Given the description of an element on the screen output the (x, y) to click on. 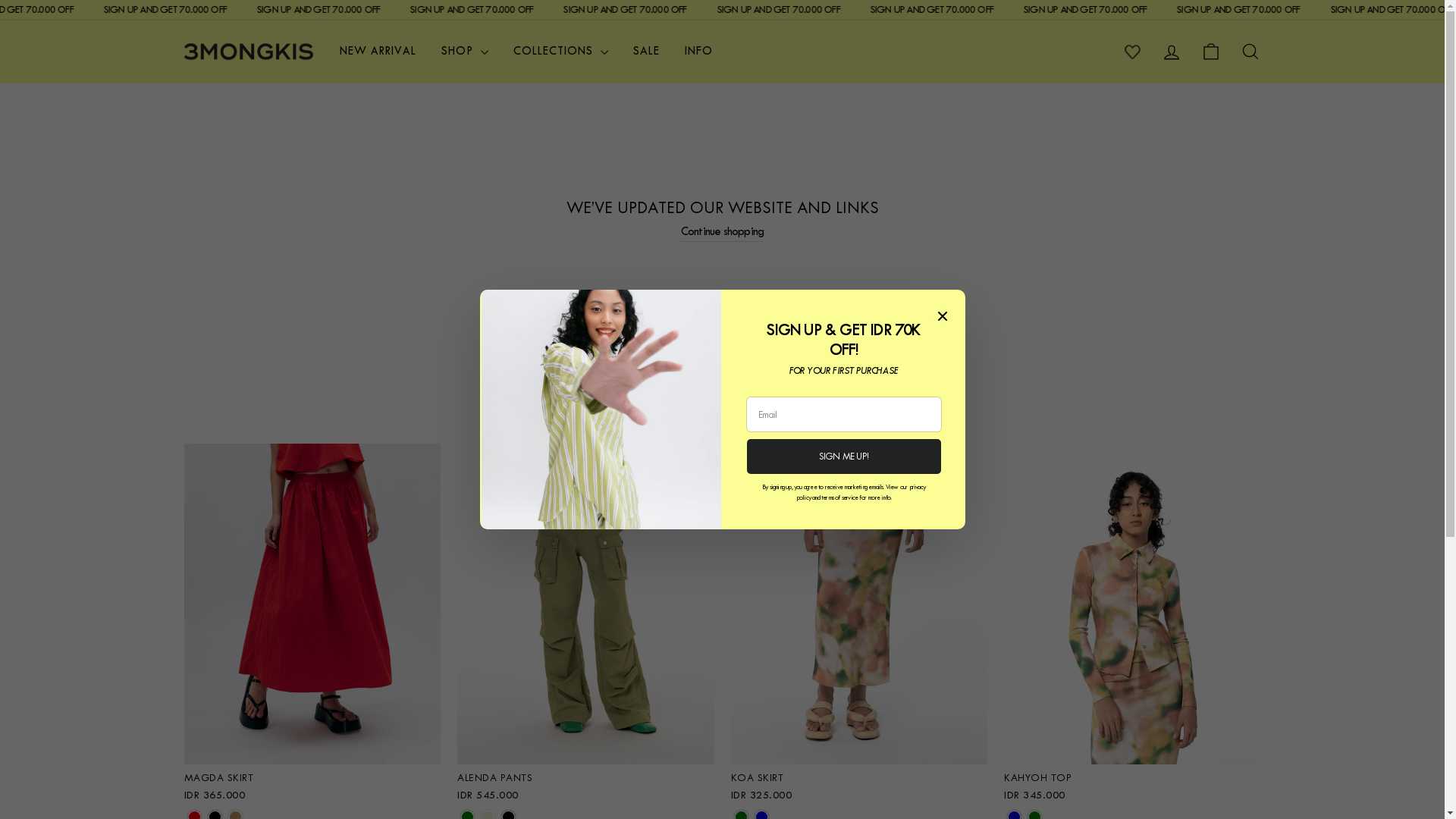
MAGDA SKIRT
IDR 365.000 Element type: text (311, 785)
Continue shopping Element type: text (721, 231)
KOA SKIRT
IDR 325.000 Element type: text (859, 785)
KAHYOH TOP
IDR 345.000 Element type: text (1132, 785)
NEW ARRIVAL Element type: text (376, 51)
SALE Element type: text (646, 51)
ICON-SEARCH
SEARCH Element type: text (1249, 51)
ALENDA PANTS
IDR 545.000 Element type: text (585, 785)
ICON-BAG-MINIMAL
CART Element type: text (1210, 51)
ACCOUNT
LOG IN Element type: text (1170, 51)
INFO Element type: text (698, 51)
